Given the description of an element on the screen output the (x, y) to click on. 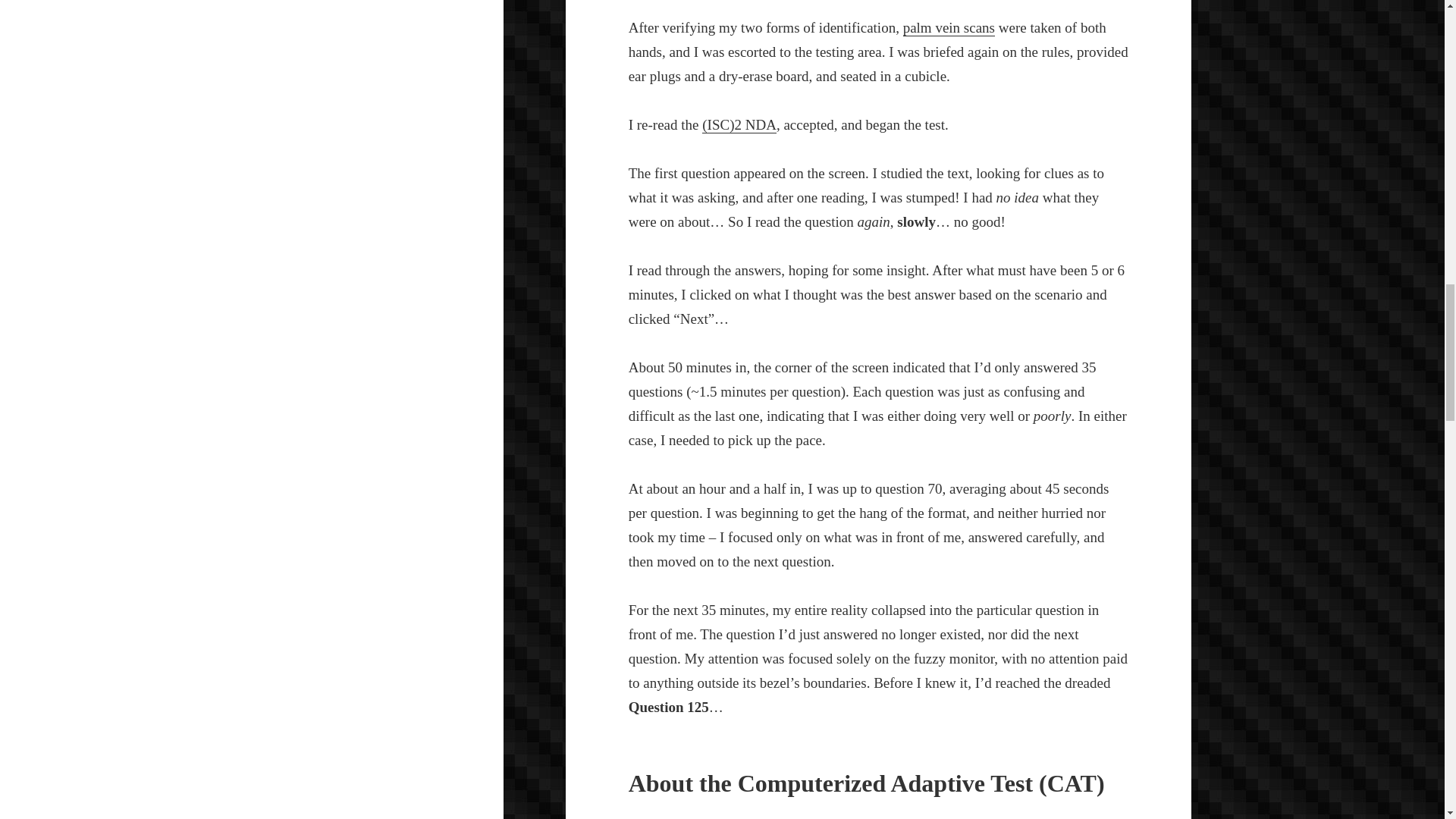
palm vein scans (948, 27)
